Given the description of an element on the screen output the (x, y) to click on. 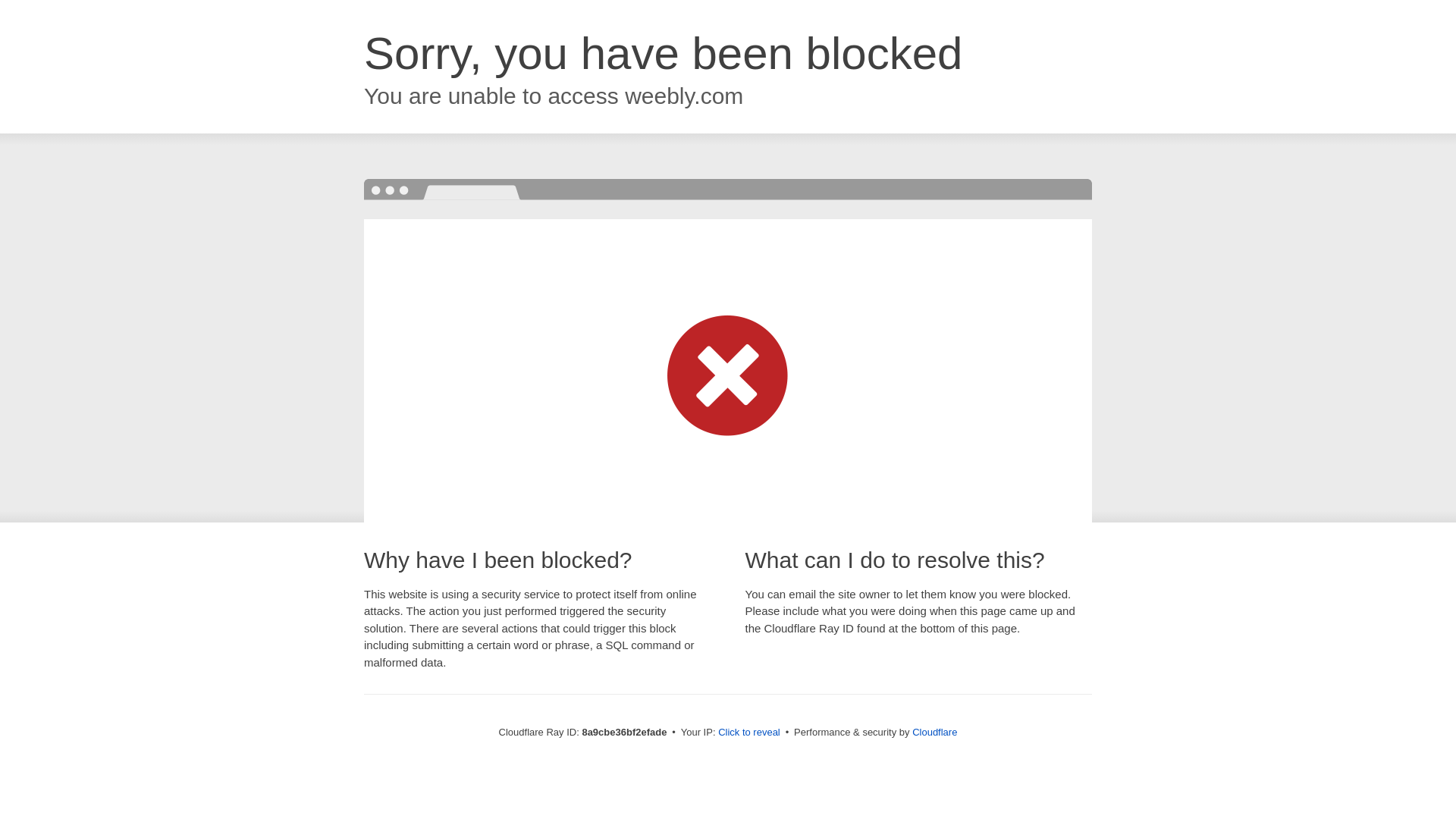
Cloudflare (934, 731)
Click to reveal (748, 732)
